Given the description of an element on the screen output the (x, y) to click on. 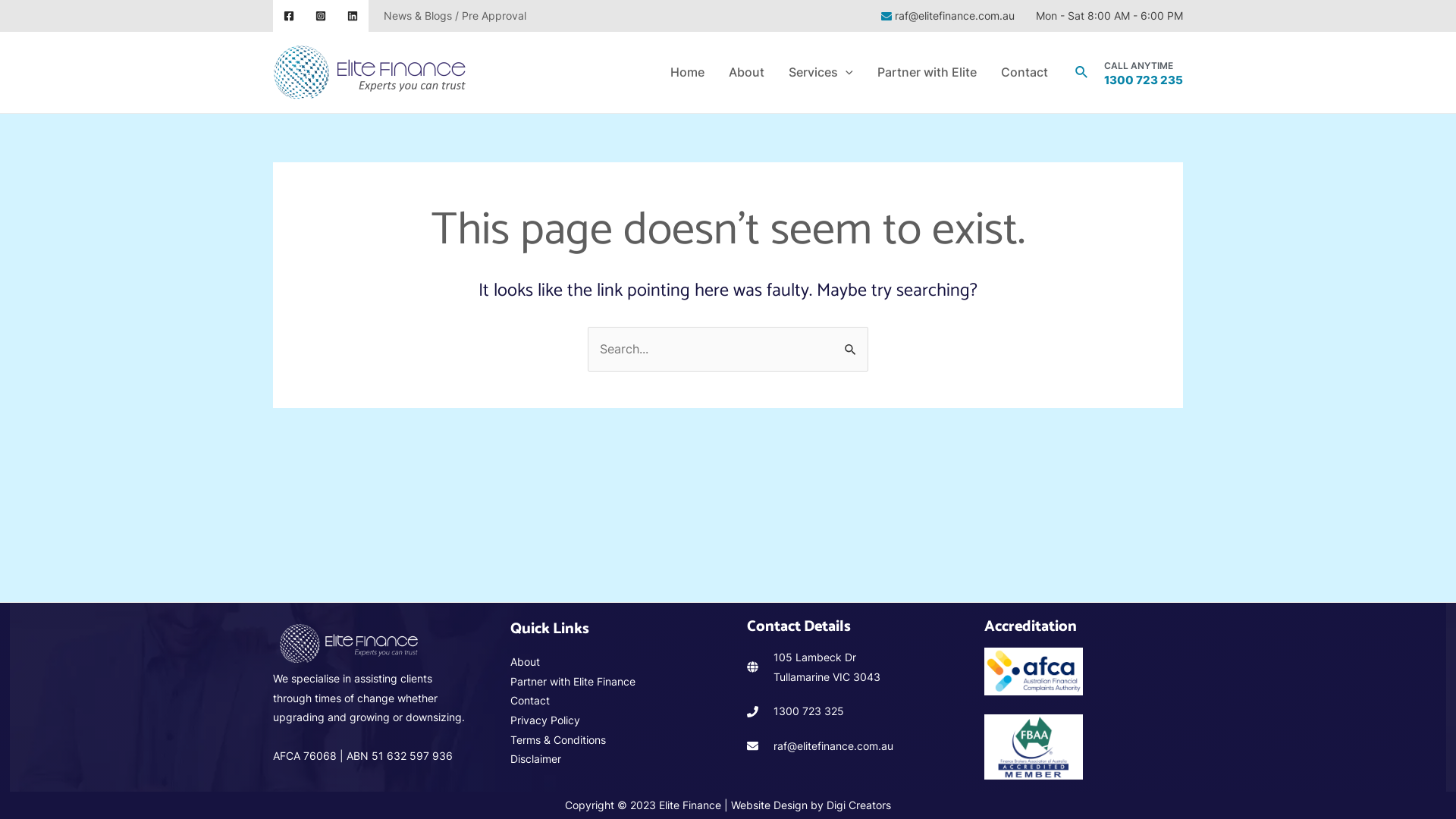
1300 723 235 Element type: text (1143, 79)
raf@elitefinance.com.au Element type: text (833, 745)
Privacy Policy Element type: text (544, 719)
Pre Approval Element type: text (493, 15)
Digi Creators Element type: text (858, 804)
Search Element type: text (851, 342)
News & Blogs Element type: text (417, 15)
About Element type: text (746, 72)
Services Element type: text (820, 72)
Terms & Conditions Element type: text (557, 739)
About Element type: text (524, 661)
Contact Element type: text (1024, 72)
Partner with Elite Finance Element type: text (571, 680)
Disclaimer Element type: text (534, 758)
raf@elitefinance.com.au Element type: text (947, 15)
Mon - Sat 8:00 AM - 6:00 PM Element type: text (1107, 15)
Partner with Elite Element type: text (926, 72)
Contact Element type: text (529, 699)
Search Element type: text (1081, 71)
1300 723 325 Element type: text (808, 710)
Home Element type: text (687, 72)
